Given the description of an element on the screen output the (x, y) to click on. 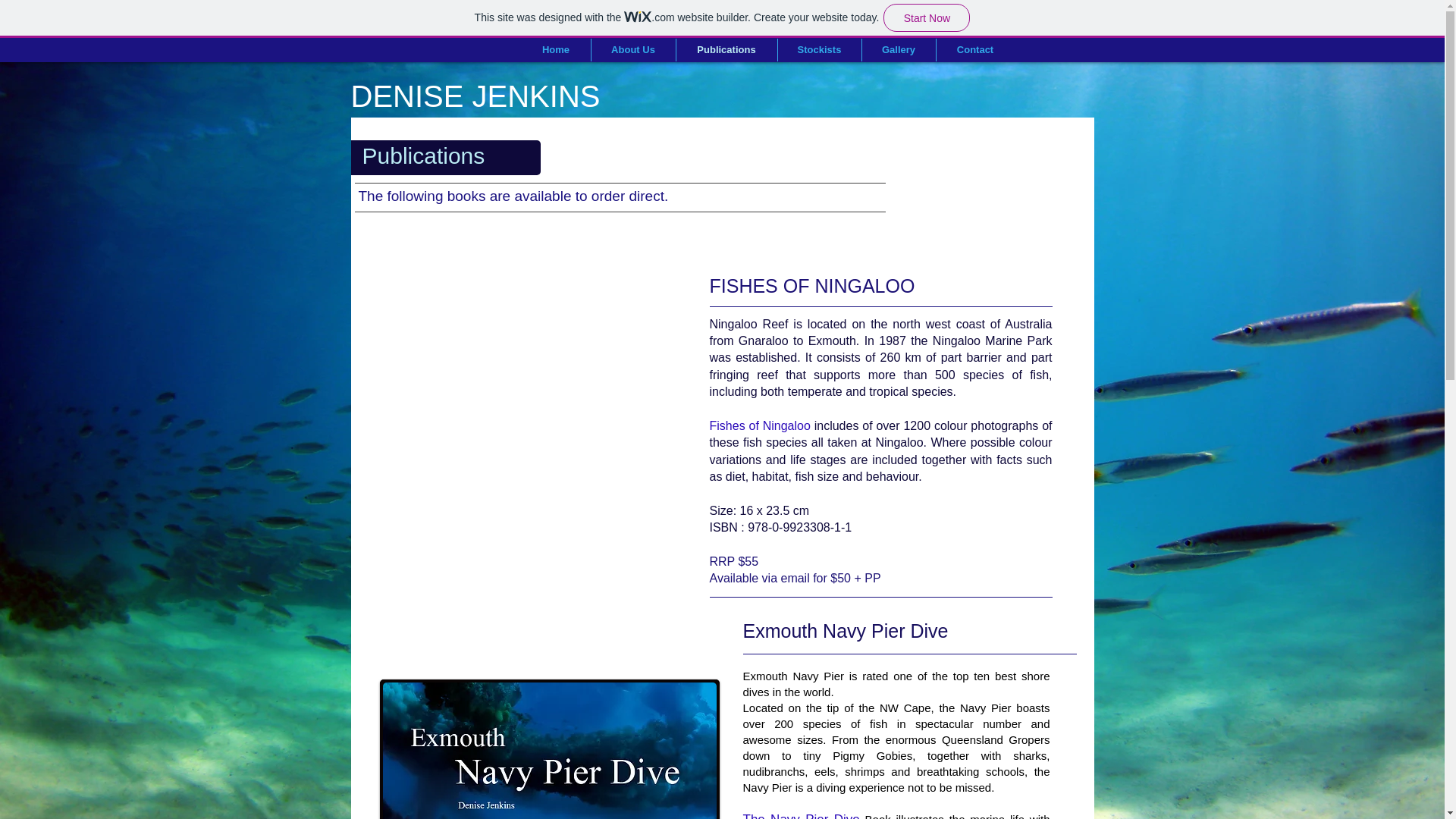
Facebook Like (1010, 135)
Publications (727, 49)
About Us (633, 49)
Gallery (897, 49)
Stockists (819, 49)
Contact (974, 49)
Home (556, 49)
